Given the description of an element on the screen output the (x, y) to click on. 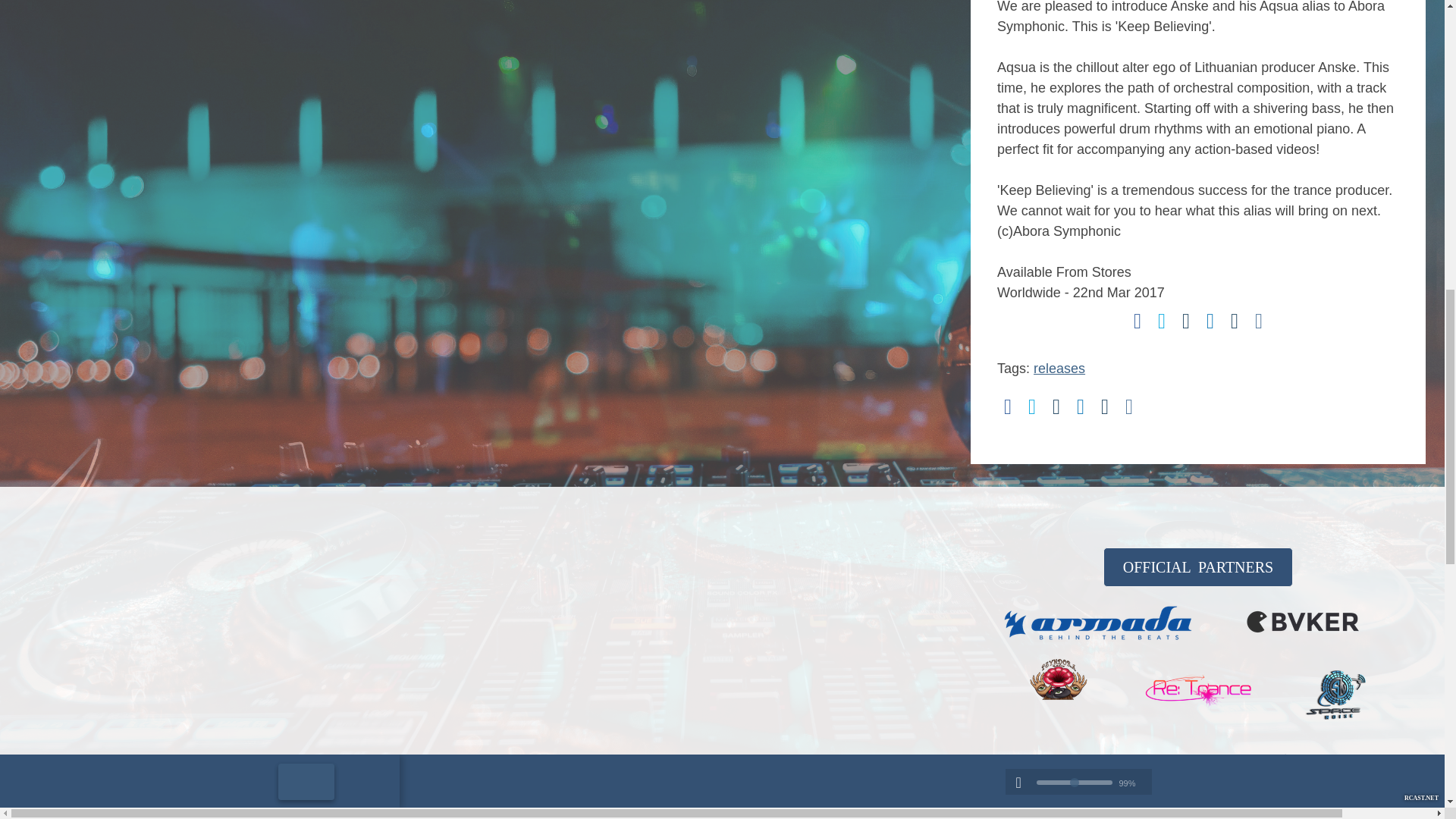
VKontakte (1129, 405)
Facebook (1007, 405)
LinkedIn (1080, 405)
LinkedIn (1210, 321)
Email (1185, 321)
Facebook (1137, 321)
Twitter (1032, 405)
Tumblr (1234, 321)
Twitter (1161, 321)
VKontakte (1258, 321)
Email (1056, 405)
Tumblr (1104, 405)
